Given the description of an element on the screen output the (x, y) to click on. 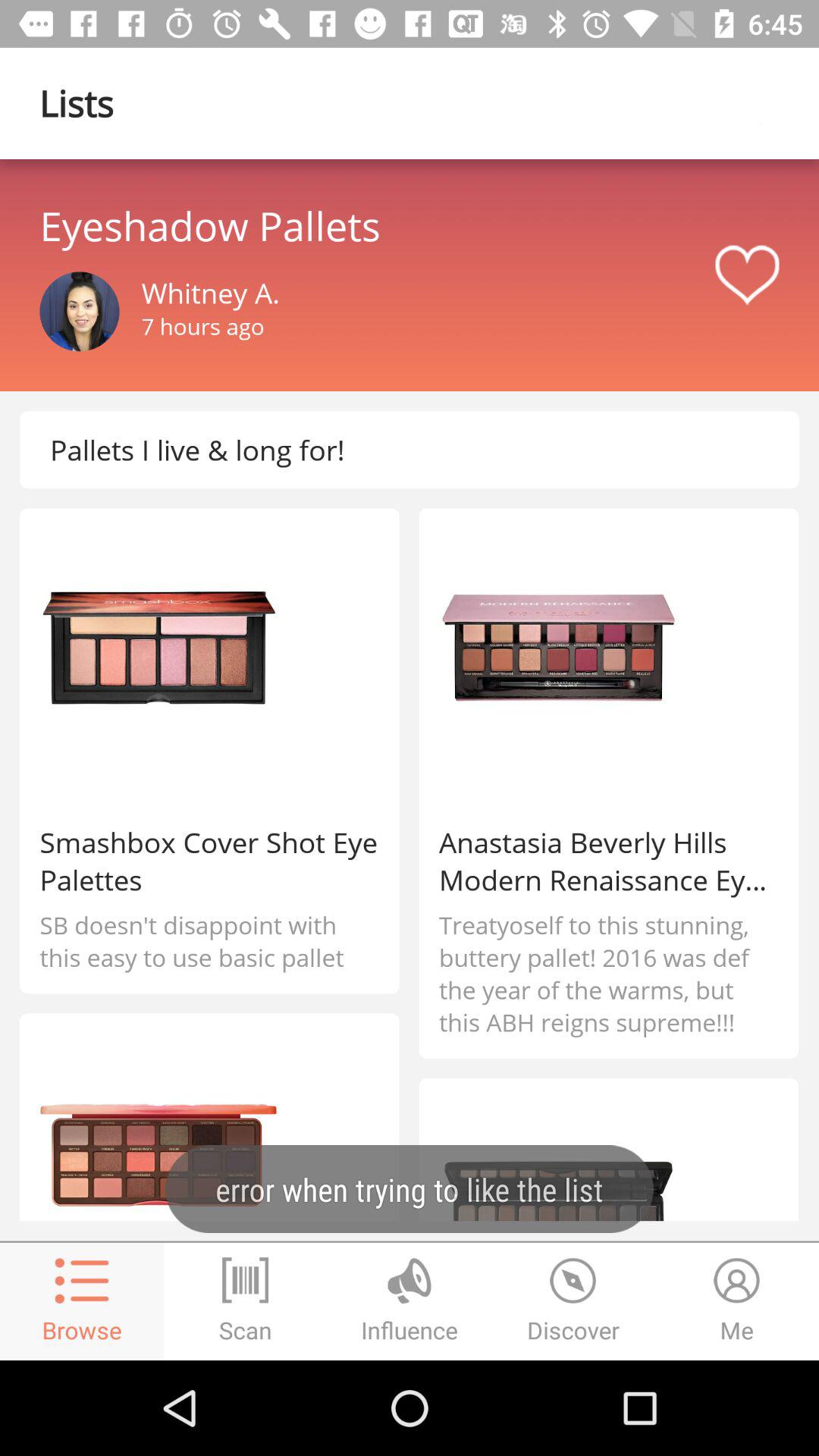
icon page (778, 103)
